Given the description of an element on the screen output the (x, y) to click on. 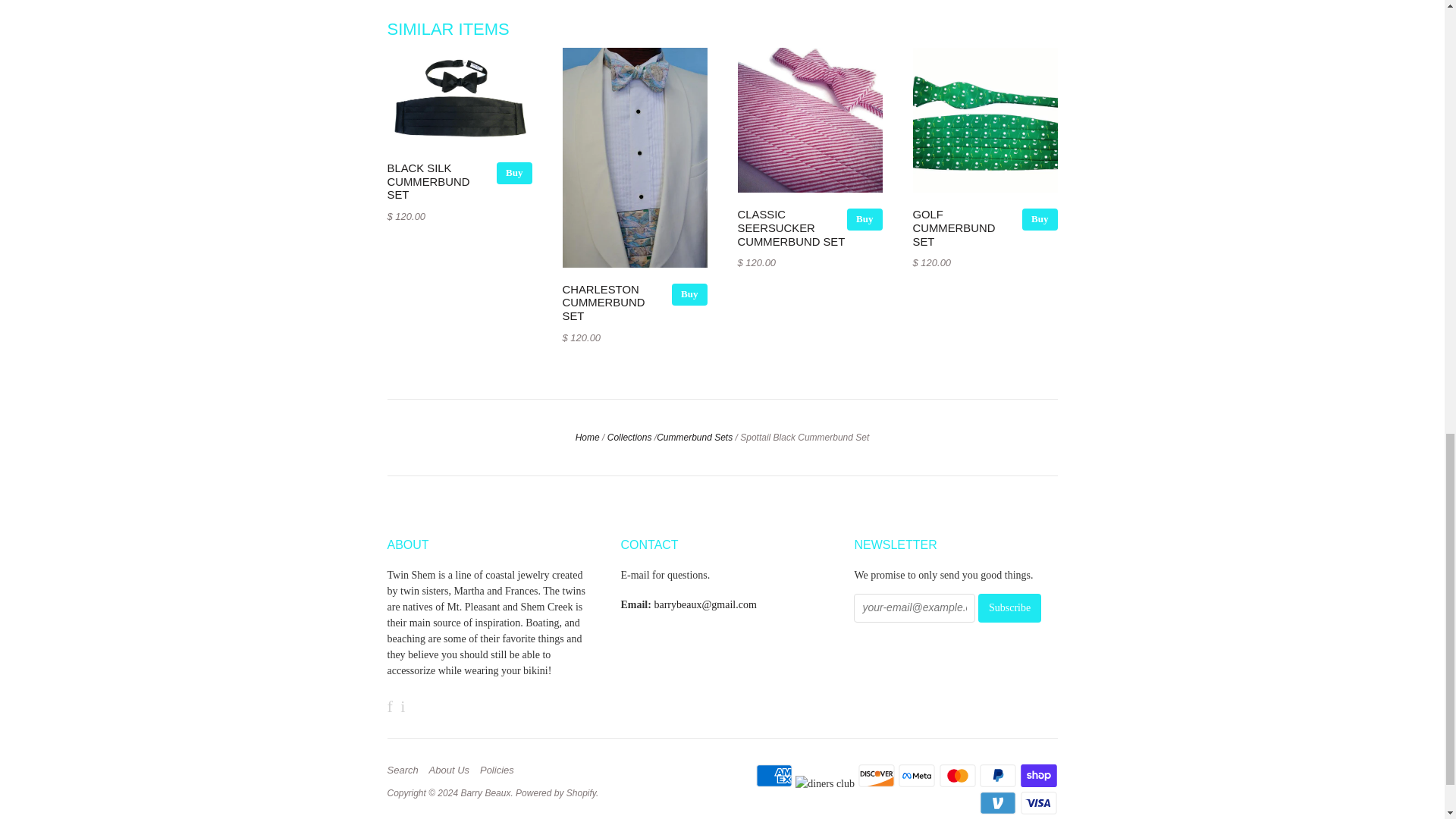
Subscribe (1009, 607)
Search (406, 769)
About Us (453, 769)
Policies  (500, 769)
